Given the description of an element on the screen output the (x, y) to click on. 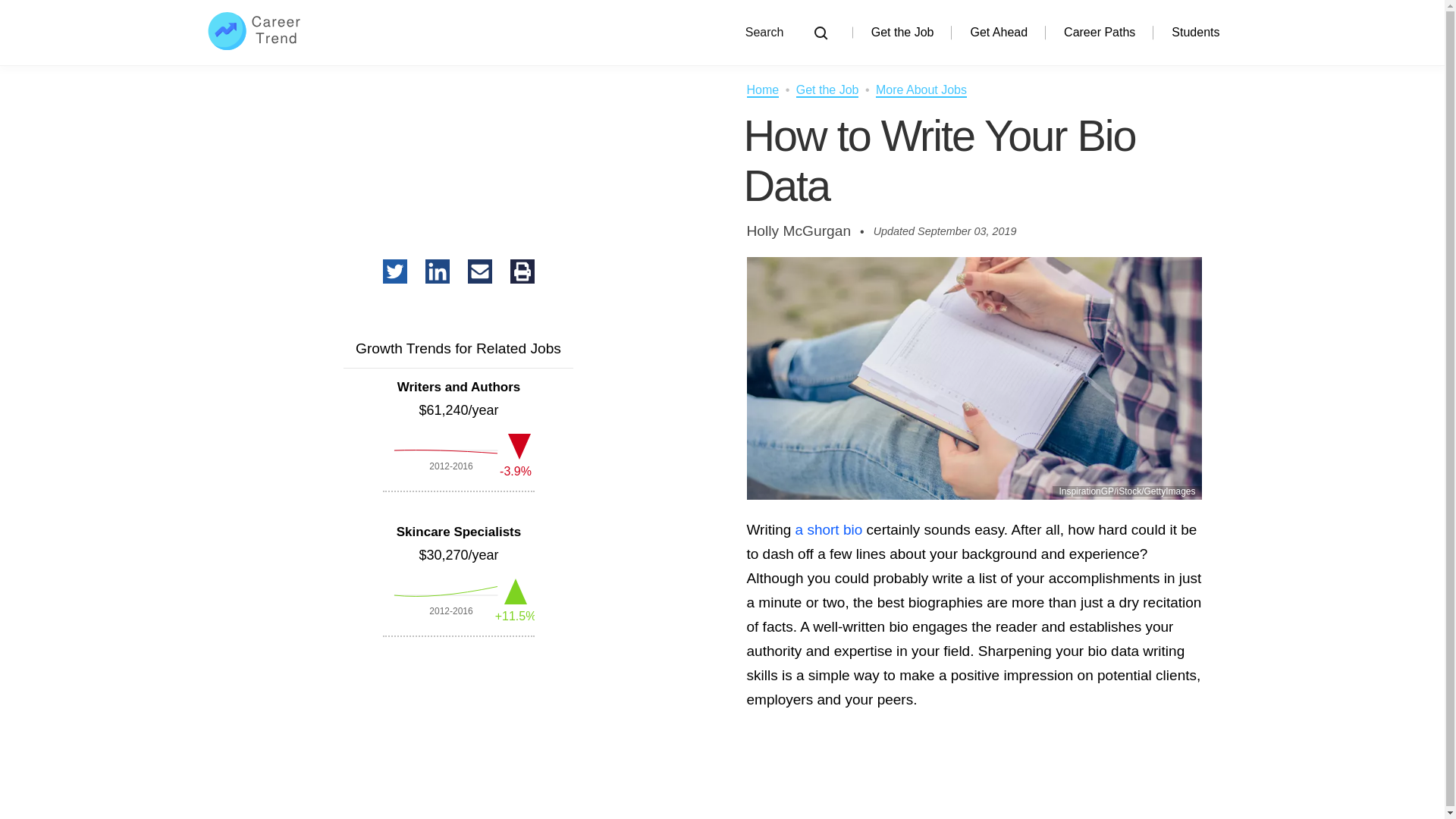
Career Paths (1099, 31)
Get Ahead (998, 31)
Students (1196, 31)
Get the Job (902, 31)
